Given the description of an element on the screen output the (x, y) to click on. 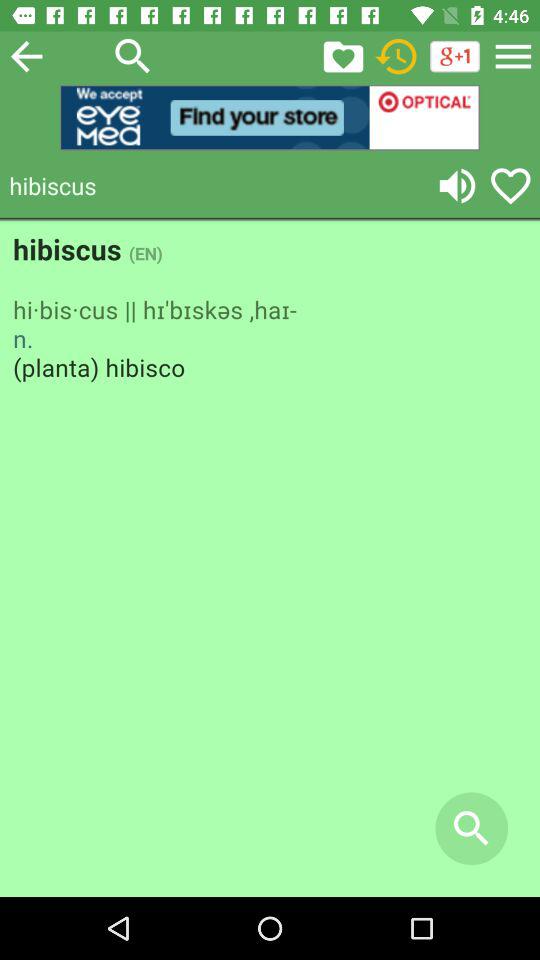
explore the advertisement (270, 117)
